Given the description of an element on the screen output the (x, y) to click on. 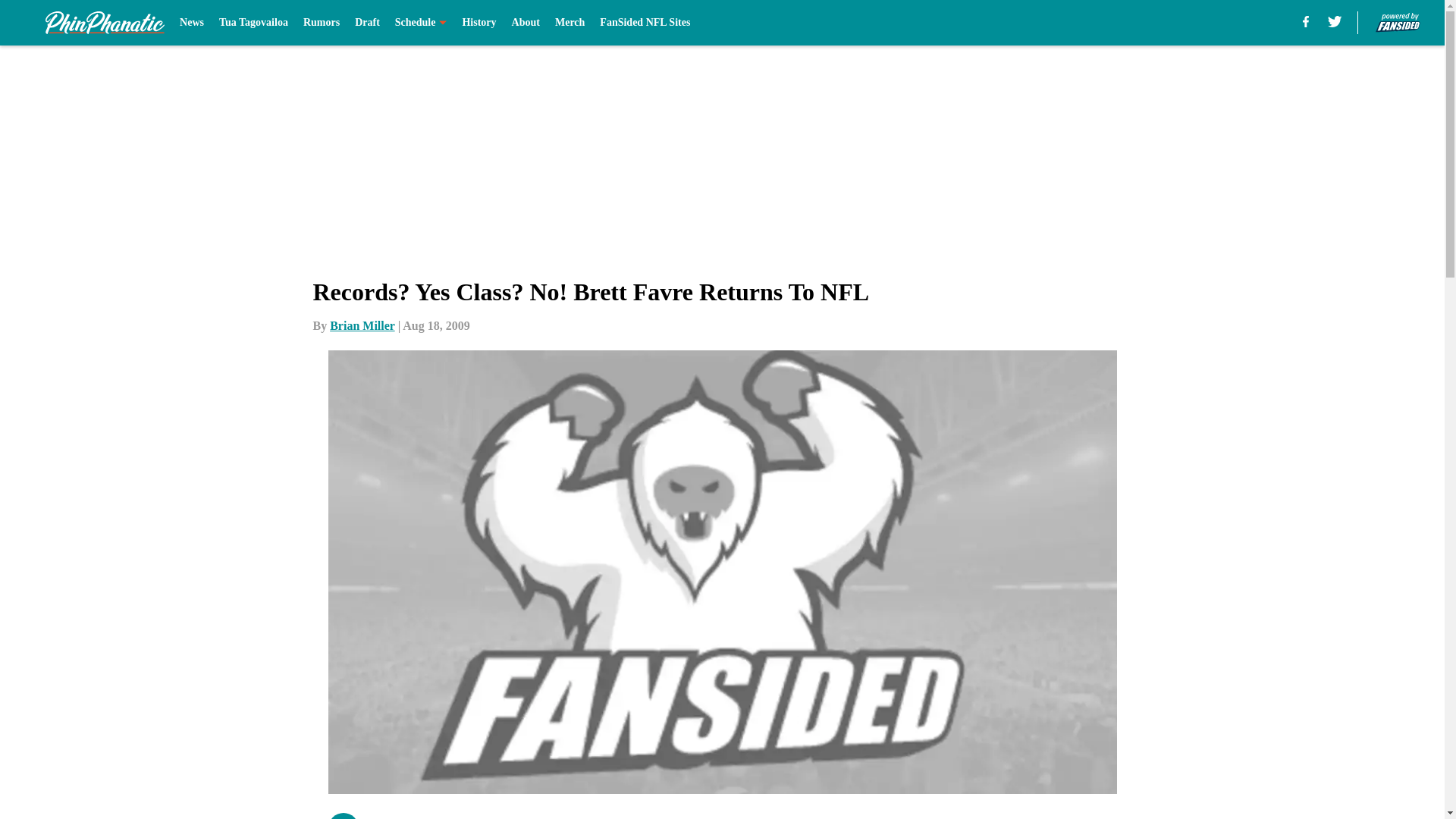
History (478, 22)
News (191, 22)
FanSided NFL Sites (644, 22)
Rumors (320, 22)
About (526, 22)
Tua Tagovailoa (253, 22)
Merch (569, 22)
Brian Miller (362, 325)
Draft (367, 22)
